Given the description of an element on the screen output the (x, y) to click on. 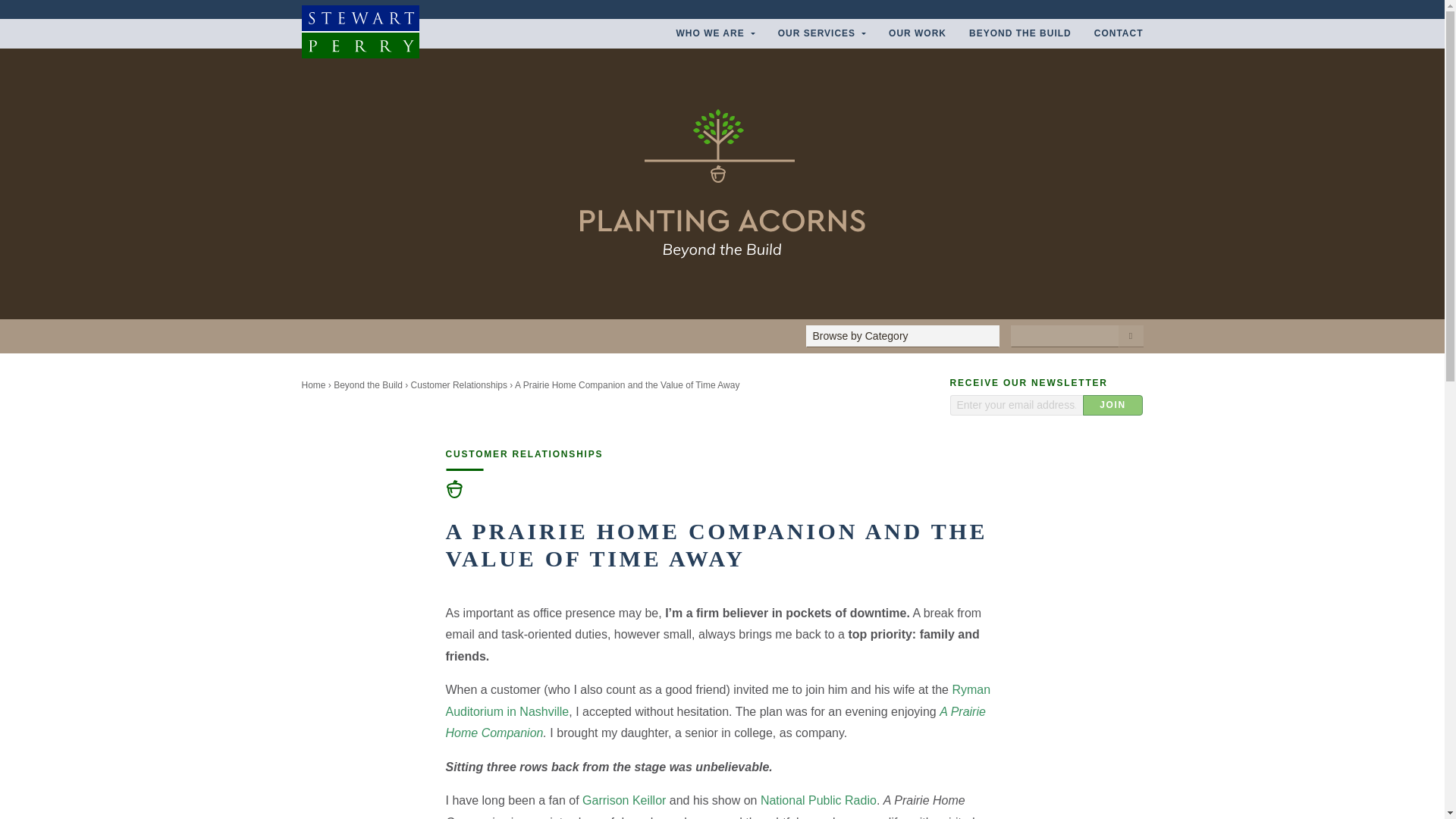
Home (313, 385)
BEYOND THE BUILD (1020, 33)
Who We Are (714, 33)
Our Services (822, 33)
OUR WORK (917, 33)
Join (1112, 404)
Customer Relationships (458, 385)
Beyond the Build (1020, 33)
WHO WE ARE (714, 33)
Garrison Keillor (623, 799)
Search for: (1064, 336)
Contact (1112, 33)
Beyond the Build (368, 385)
A Prairie Home Companion (715, 722)
Join (1112, 404)
